Given the description of an element on the screen output the (x, y) to click on. 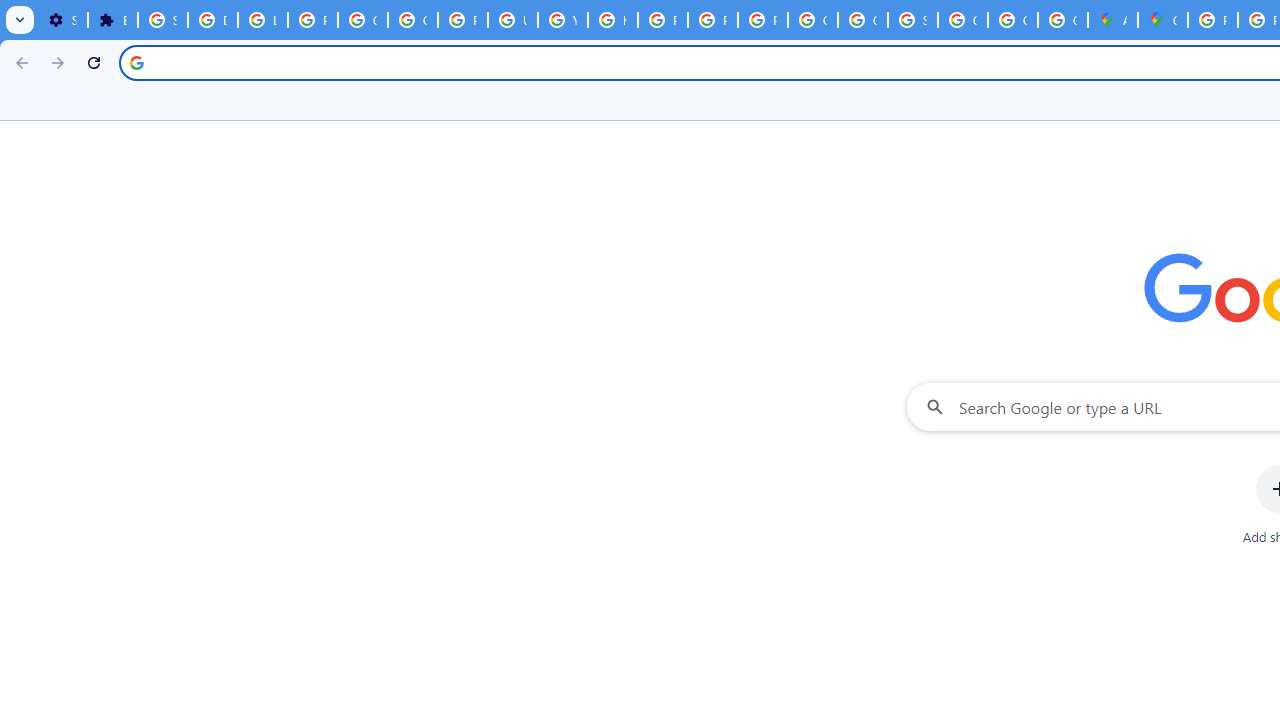
Delete photos & videos - Computer - Google Photos Help (213, 20)
https://scholar.google.com/ (612, 20)
Google Maps (1162, 20)
